Given the description of an element on the screen output the (x, y) to click on. 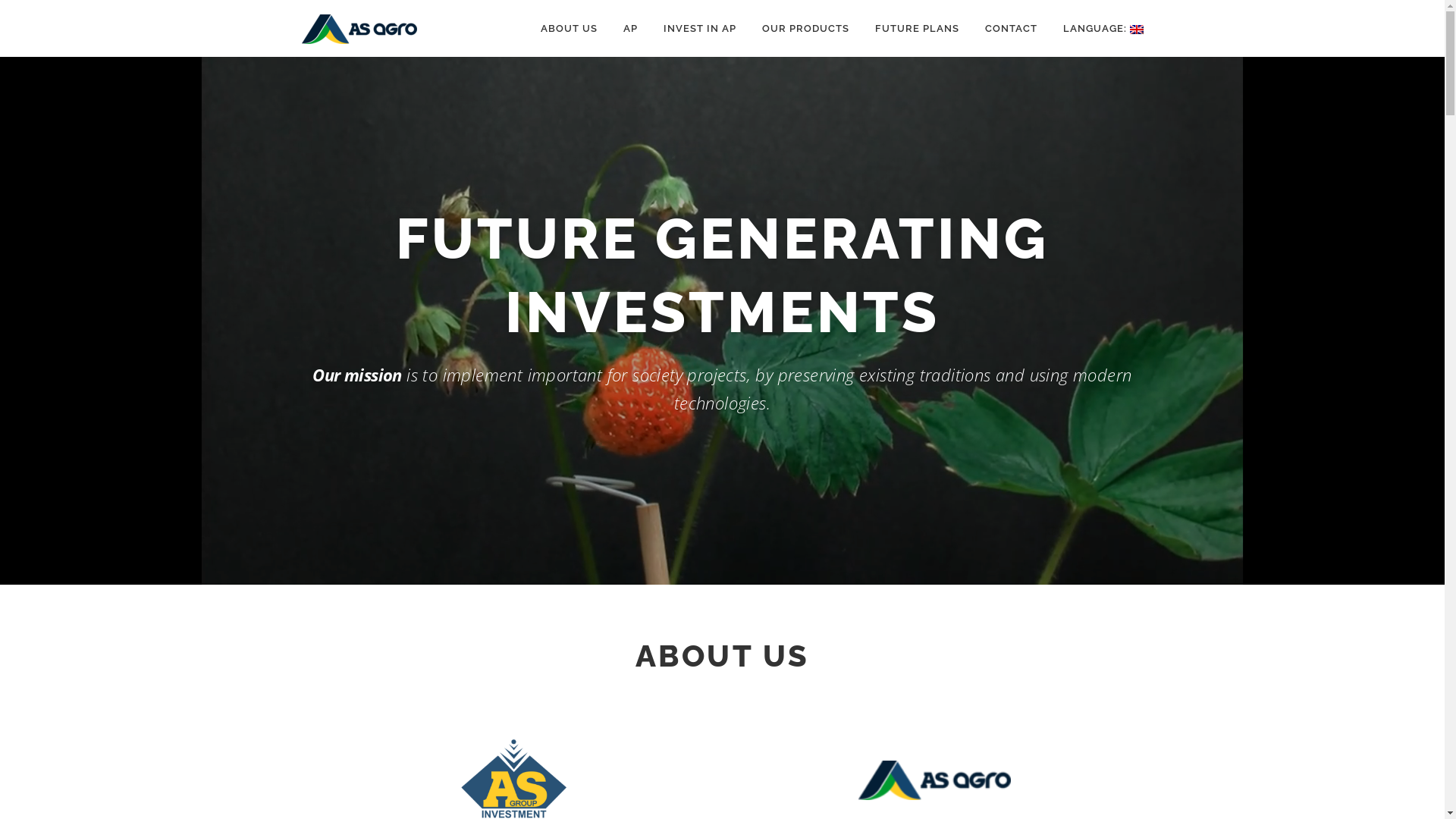
LANGUAGE:  Element type: text (1095, 28)
INVEST IN AP Element type: text (699, 28)
Skip to content Element type: text (43, 10)
CONTACT Element type: text (1011, 28)
FUTURE PLANS Element type: text (916, 28)
AP Element type: text (629, 28)
OUR PRODUCTS Element type: text (805, 28)
ABOUT US Element type: text (568, 28)
